Given the description of an element on the screen output the (x, y) to click on. 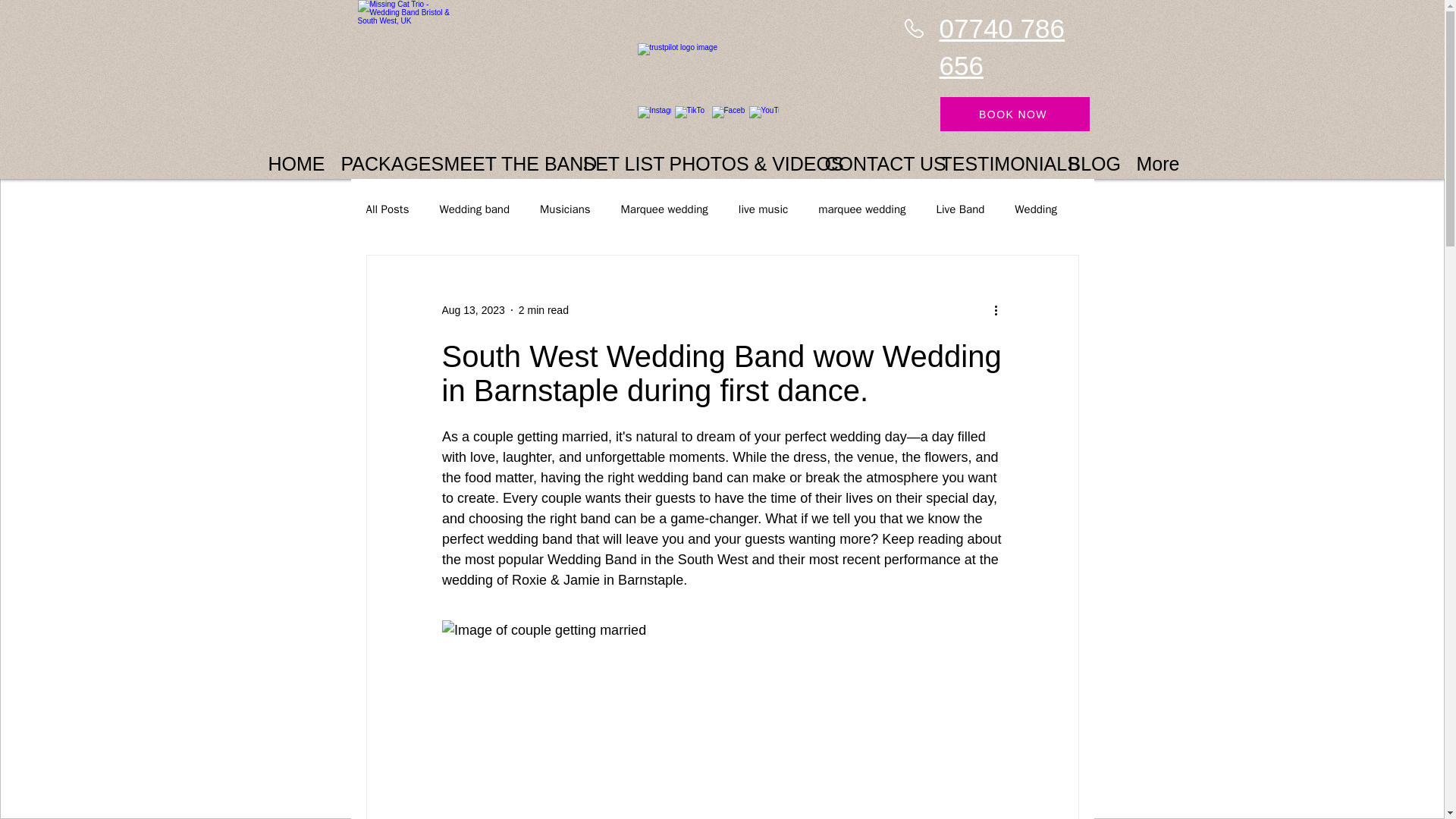
SET LIST (612, 156)
TESTIMONIALS (990, 156)
live music (762, 208)
Wedding (1035, 208)
07740 786 656 (1001, 46)
Musicians (565, 208)
HOME (290, 156)
Marquee wedding (664, 208)
Aug 13, 2023 (472, 309)
Wedding band (474, 208)
